Given the description of an element on the screen output the (x, y) to click on. 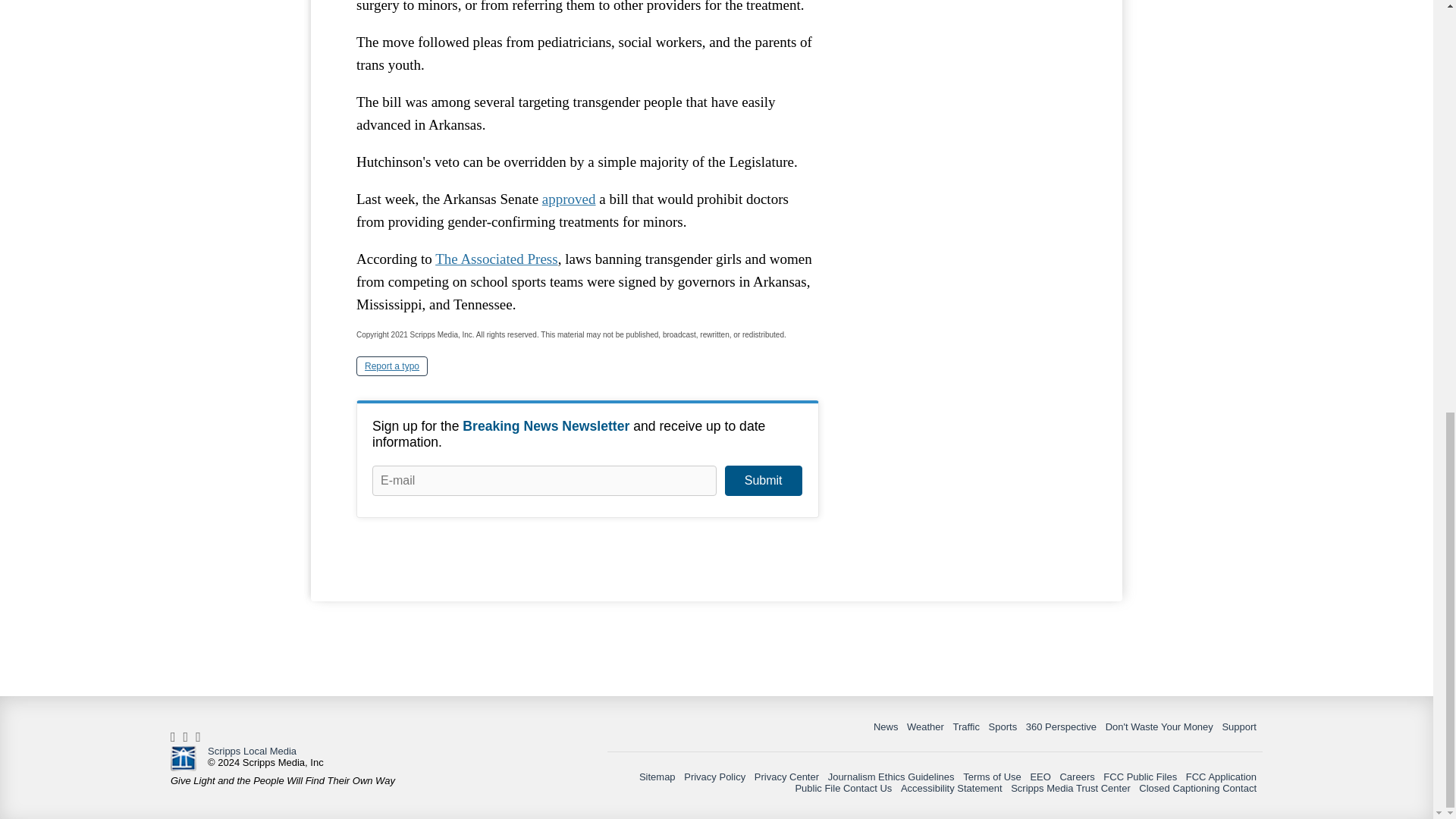
Submit (763, 481)
